Given the description of an element on the screen output the (x, y) to click on. 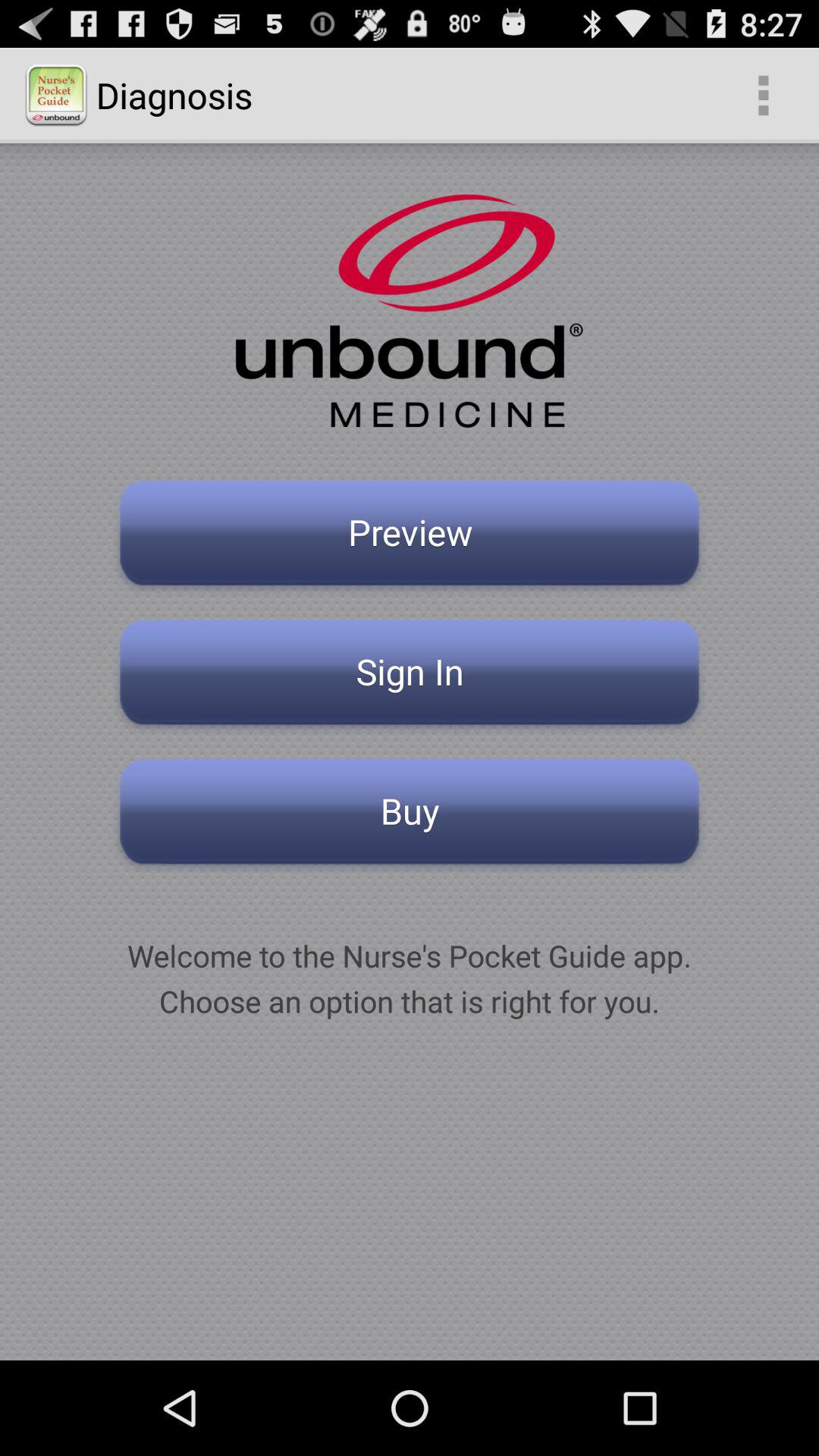
select the sign in item (409, 676)
